Given the description of an element on the screen output the (x, y) to click on. 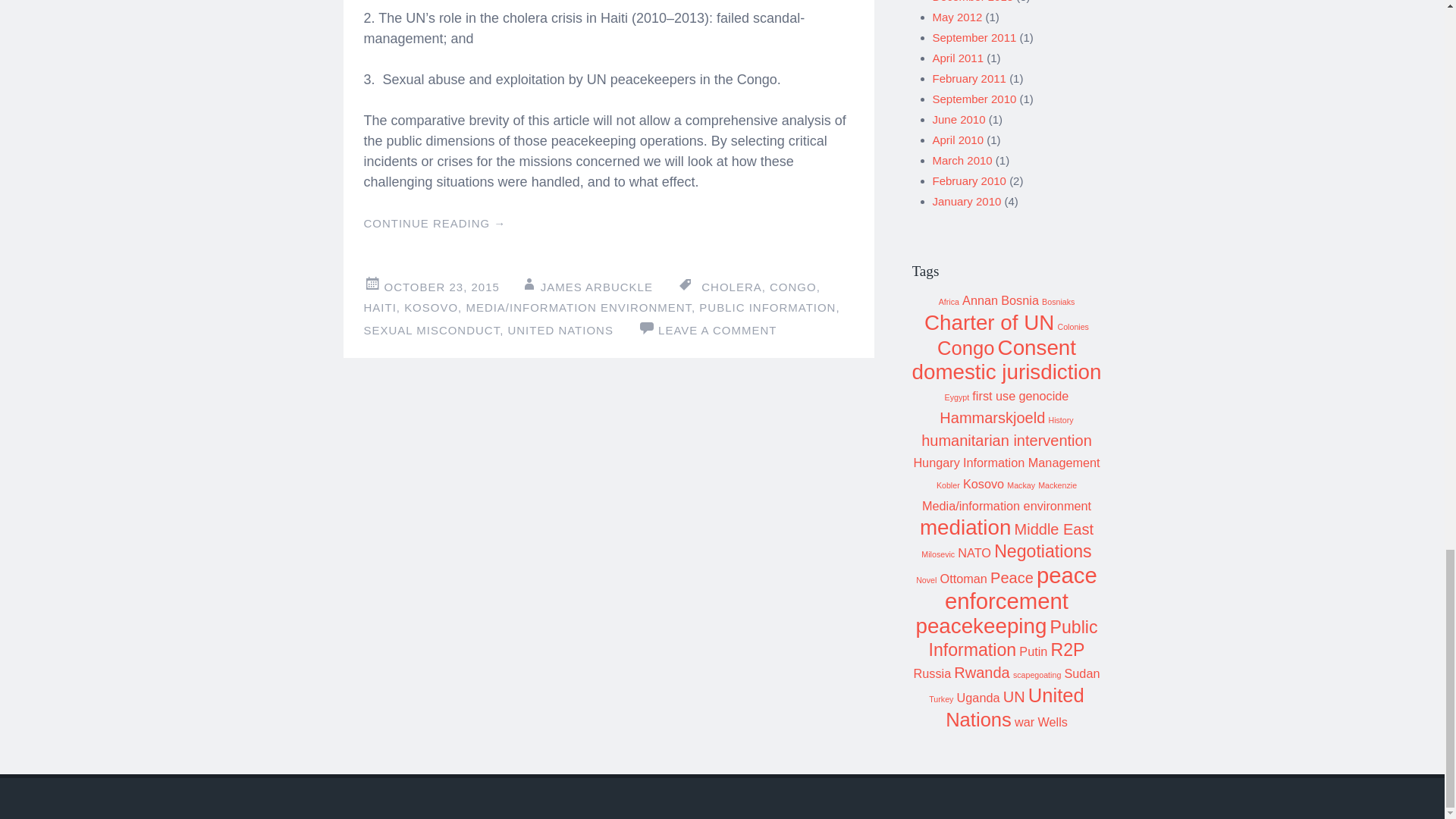
6 topics (989, 322)
1 topic (1072, 326)
OCTOBER 23, 2015 (441, 286)
10:43 am (441, 286)
5 topics (965, 347)
PUBLIC INFORMATION (766, 307)
KOSOVO (431, 307)
6 topics (1036, 347)
LEAVE A COMMENT (717, 329)
HAITI (380, 307)
1 topic (956, 397)
View all posts by James Arbuckle (596, 286)
1 topic (949, 301)
2 topics (1020, 300)
1 topic (1058, 301)
